Given the description of an element on the screen output the (x, y) to click on. 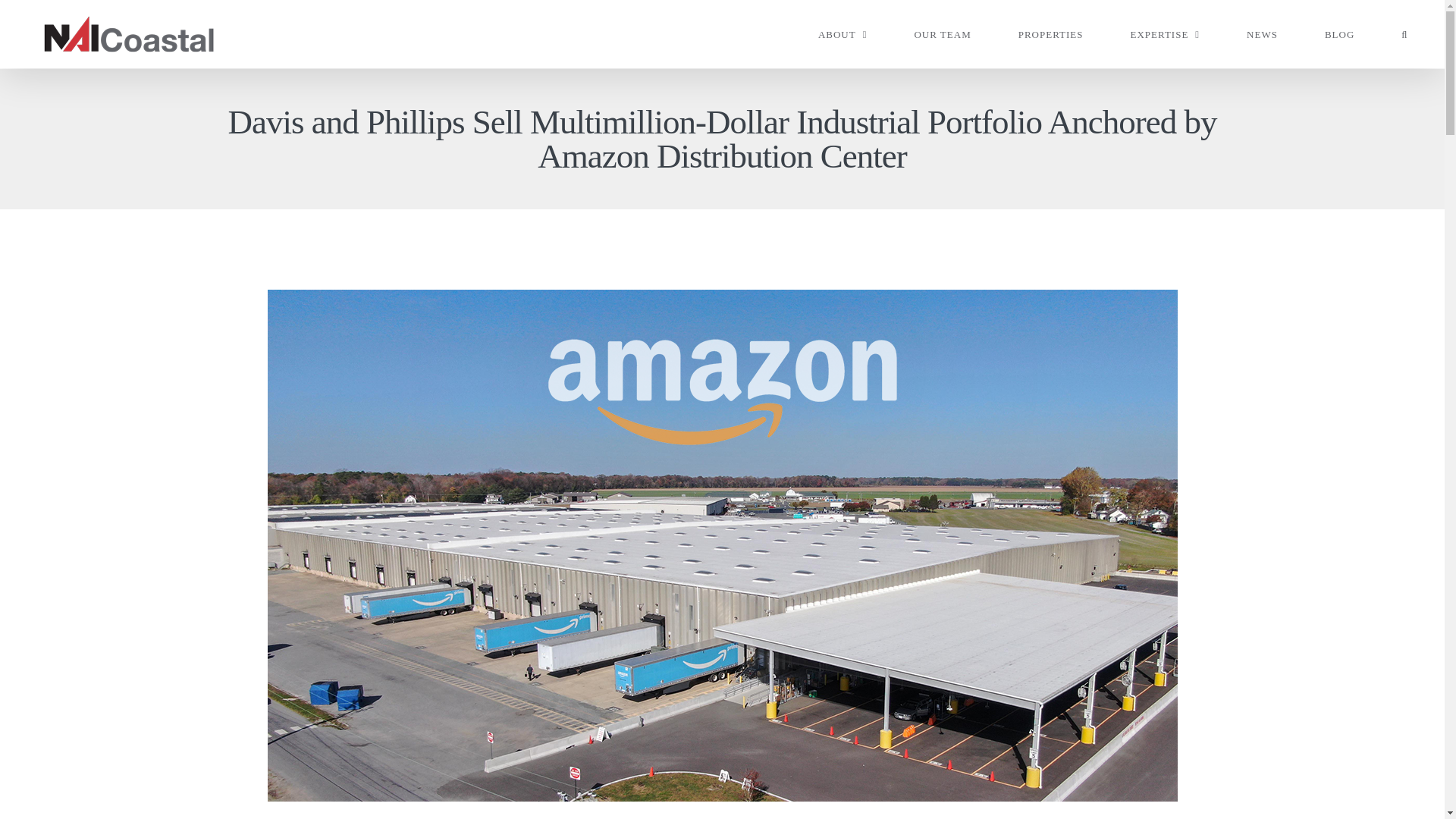
PROPERTIES (1050, 33)
EXPERTISE (1164, 33)
